Given the description of an element on the screen output the (x, y) to click on. 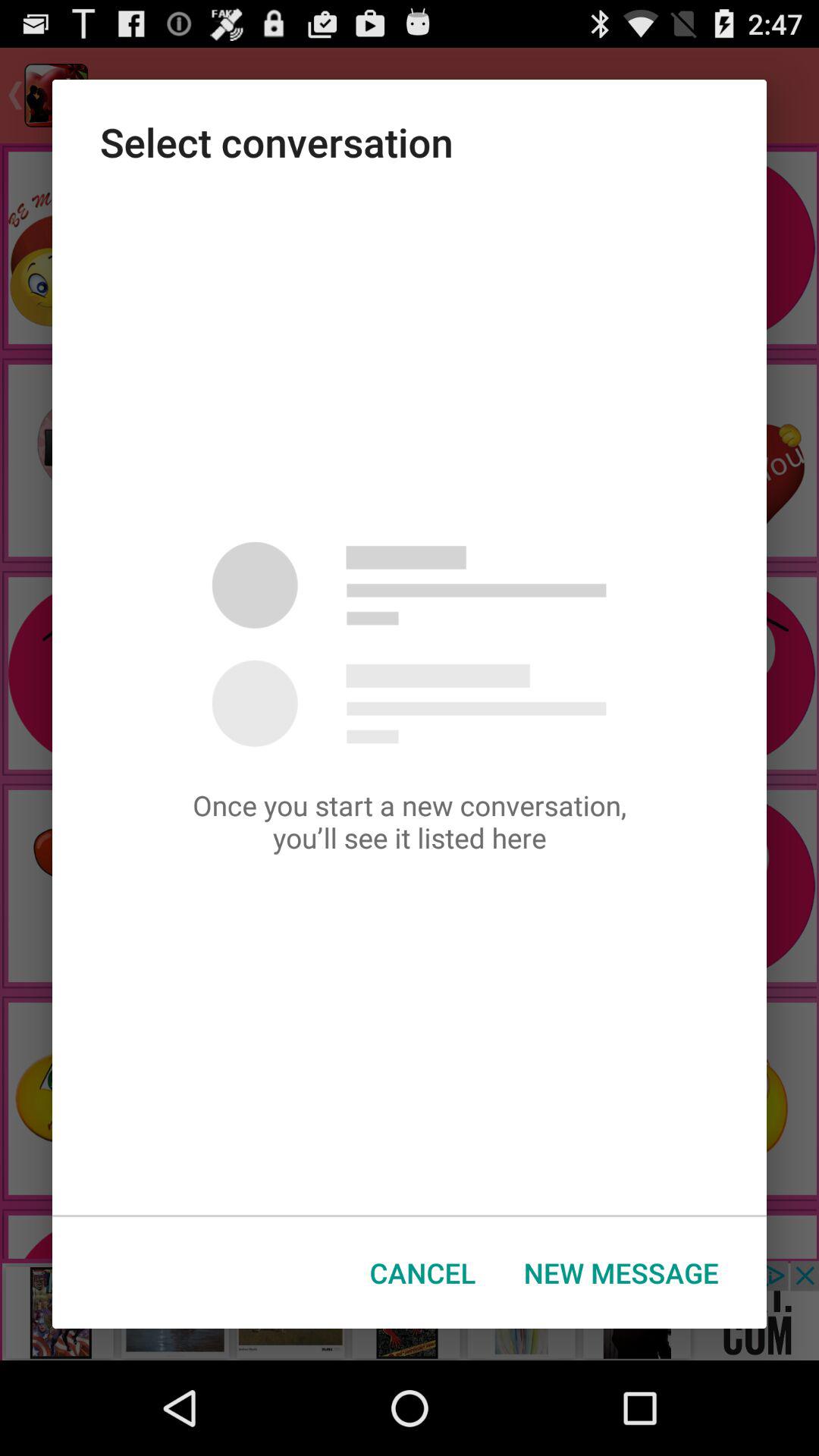
tap button next to the cancel icon (620, 1272)
